Given the description of an element on the screen output the (x, y) to click on. 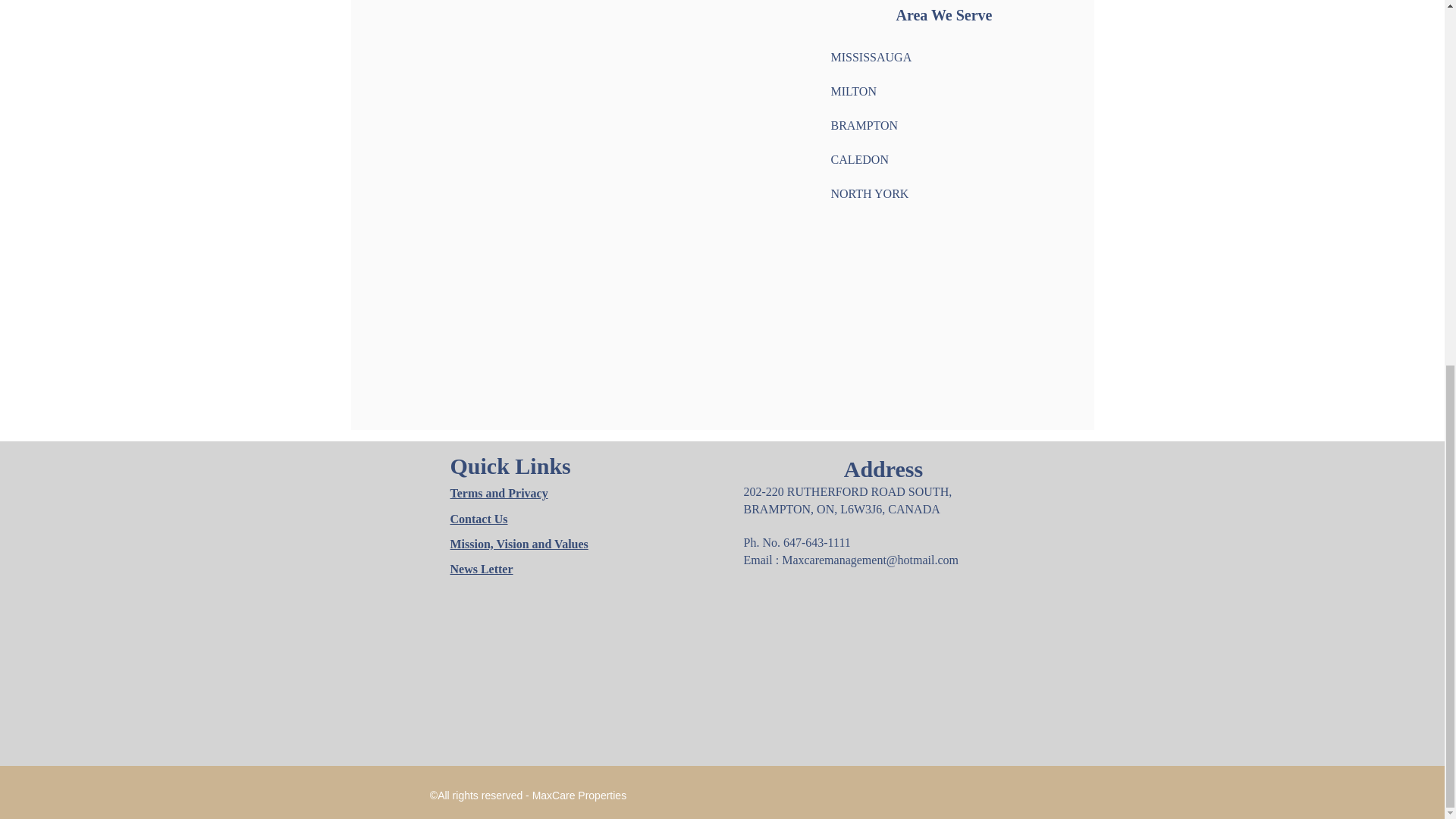
Terms and Privacy (498, 492)
Mission, Vision and Values (518, 543)
News Letter (481, 568)
Contact Us (478, 518)
